Given the description of an element on the screen output the (x, y) to click on. 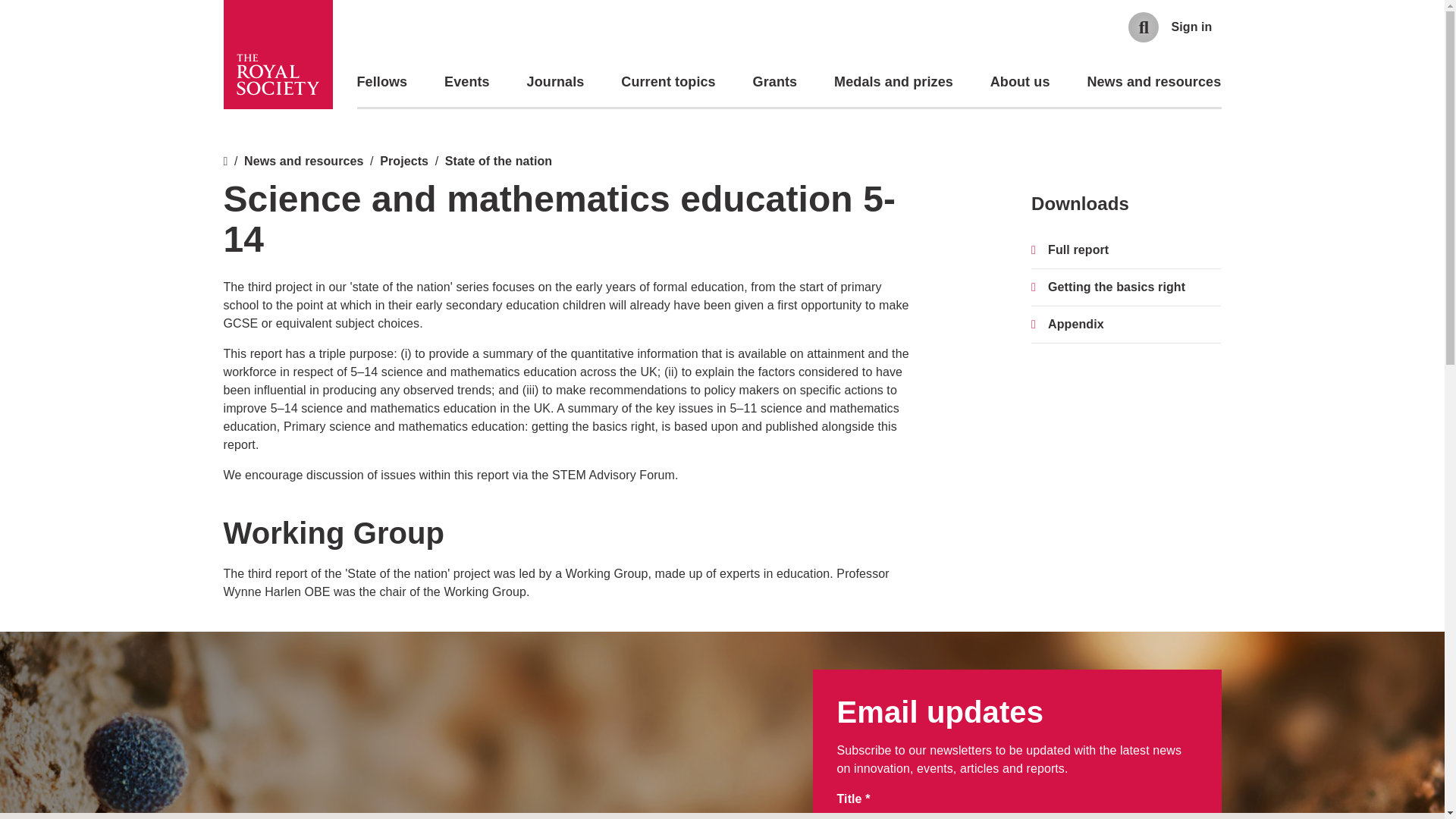
Current topics (667, 81)
Journals (556, 81)
Fellows (381, 81)
